Given the description of an element on the screen output the (x, y) to click on. 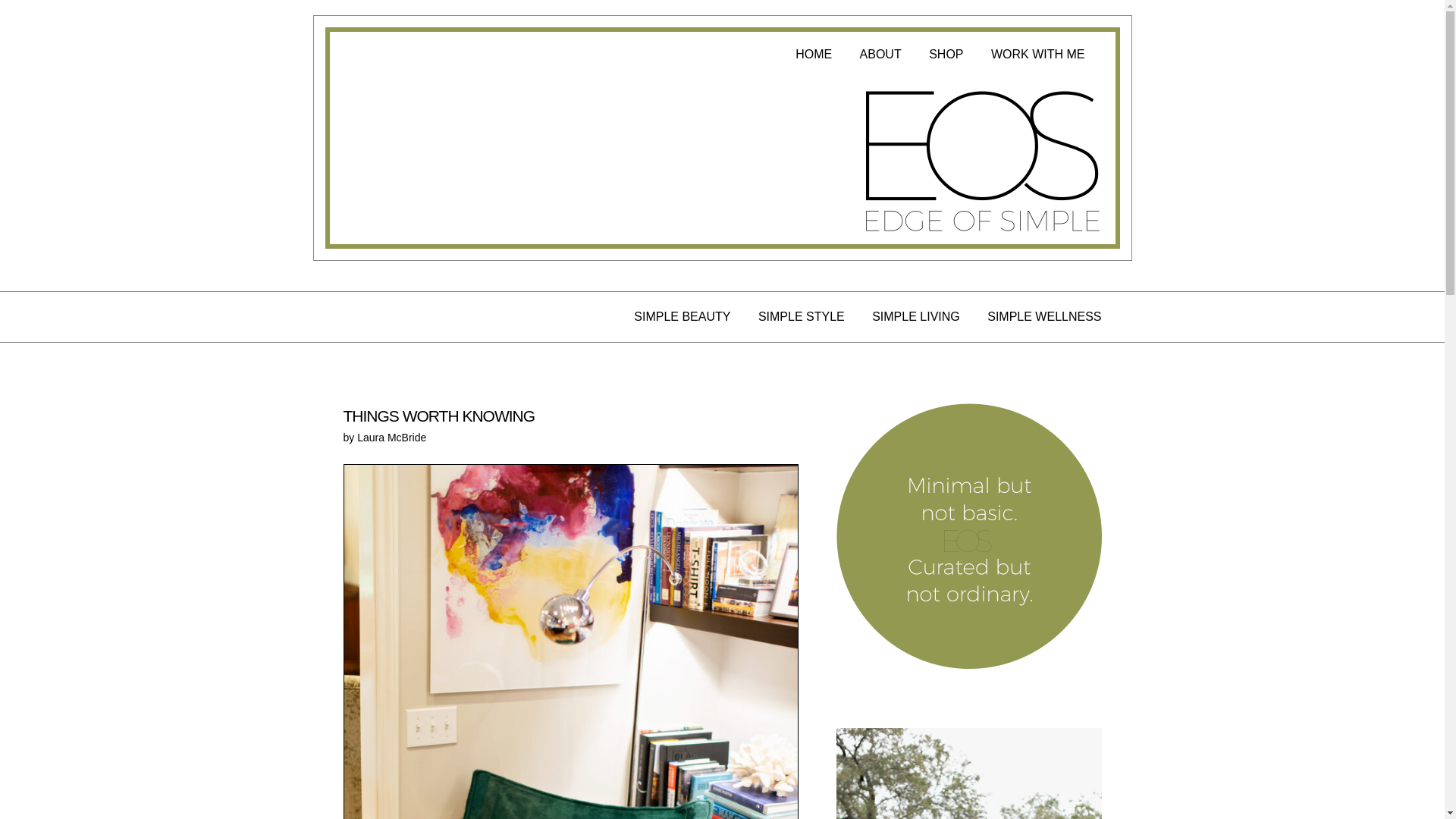
WORK WITH ME (1037, 53)
SIMPLE BEAUTY (681, 316)
SIMPLE LIVING (915, 316)
THE EDGE OF SIMPLE (981, 160)
SIMPLE WELLNESS (1043, 316)
SIMPLE STYLE (801, 316)
Laura McBride (391, 437)
ABOUT (880, 53)
